Given the description of an element on the screen output the (x, y) to click on. 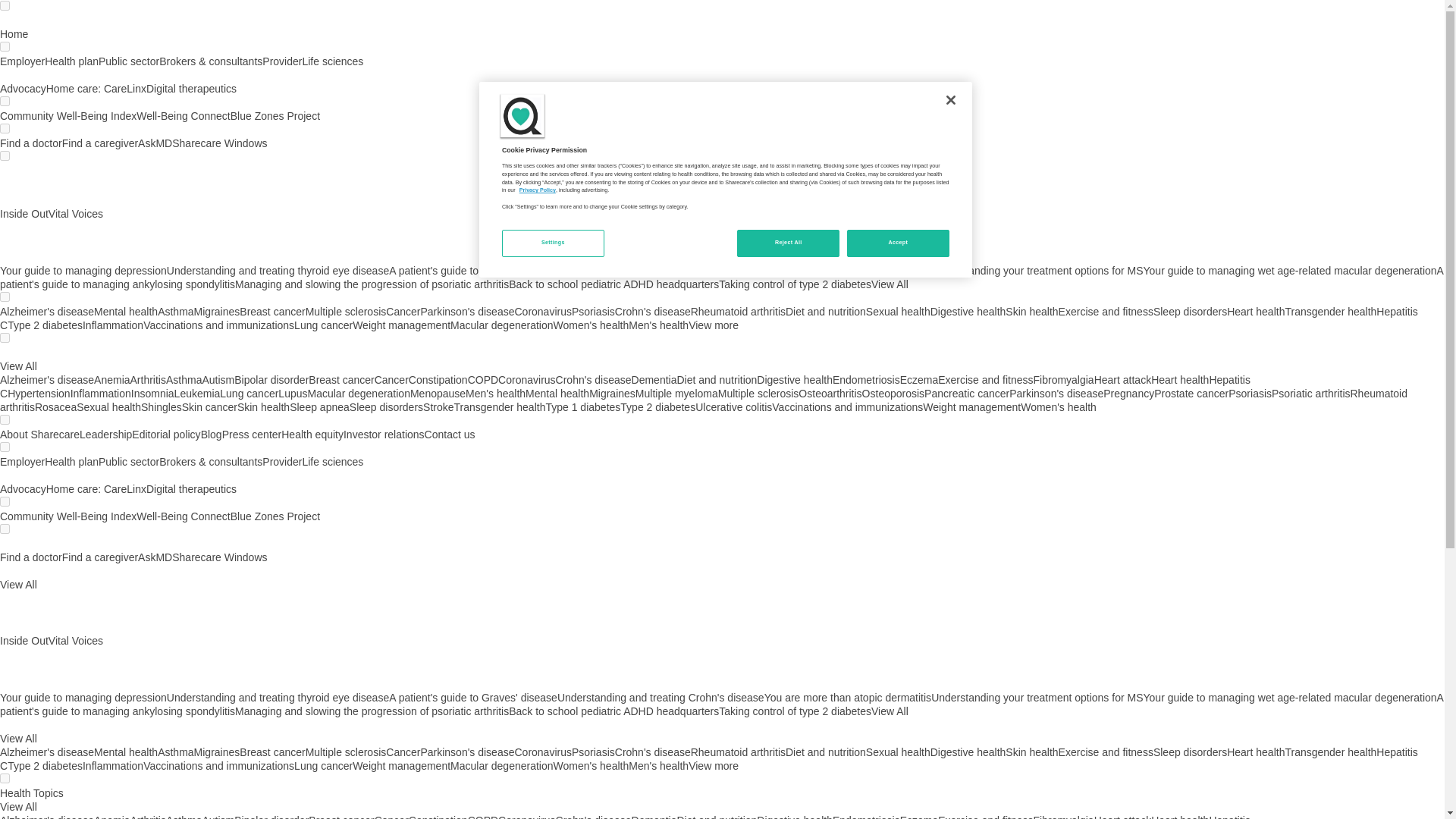
Understanding and treating thyroid eye disease (277, 270)
Coronavirus (541, 311)
on (5, 528)
Provider (281, 61)
A patient's guide to managing ankylosing spondylitis (721, 277)
AskMD (154, 143)
Alzheimer's disease (47, 311)
Back to school pediatric ADHD headquarters (613, 284)
on (5, 447)
on (5, 777)
You are more than atopic dermatitis (847, 270)
Advocacy (23, 88)
Breast cancer (272, 311)
Home care: CareLinx (96, 88)
Inside Out (24, 214)
